Given the description of an element on the screen output the (x, y) to click on. 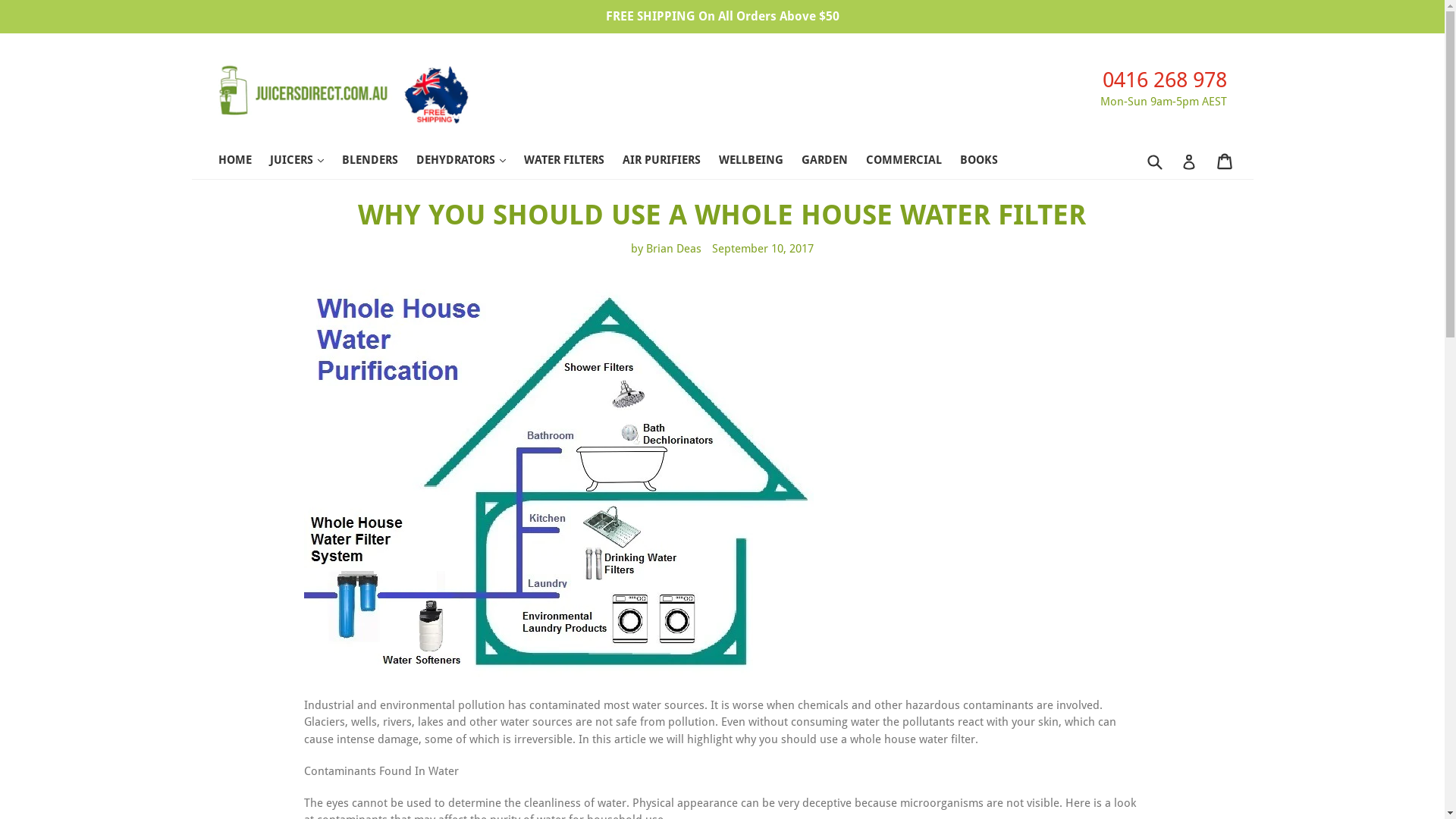
COMMERCIAL Element type: text (911, 161)
WELLBEING Element type: text (758, 161)
Log in Element type: text (1188, 161)
WATER FILTERS Element type: text (570, 161)
AIR PURIFIERS Element type: text (668, 161)
BLENDERS Element type: text (376, 161)
BOOKS Element type: text (986, 161)
Submit Element type: text (1153, 161)
HOME Element type: text (242, 161)
FREE SHIPPING On All Orders Above $50 Element type: text (722, 16)
GARDEN Element type: text (831, 161)
Cart
Cart Element type: text (1224, 161)
